Given the description of an element on the screen output the (x, y) to click on. 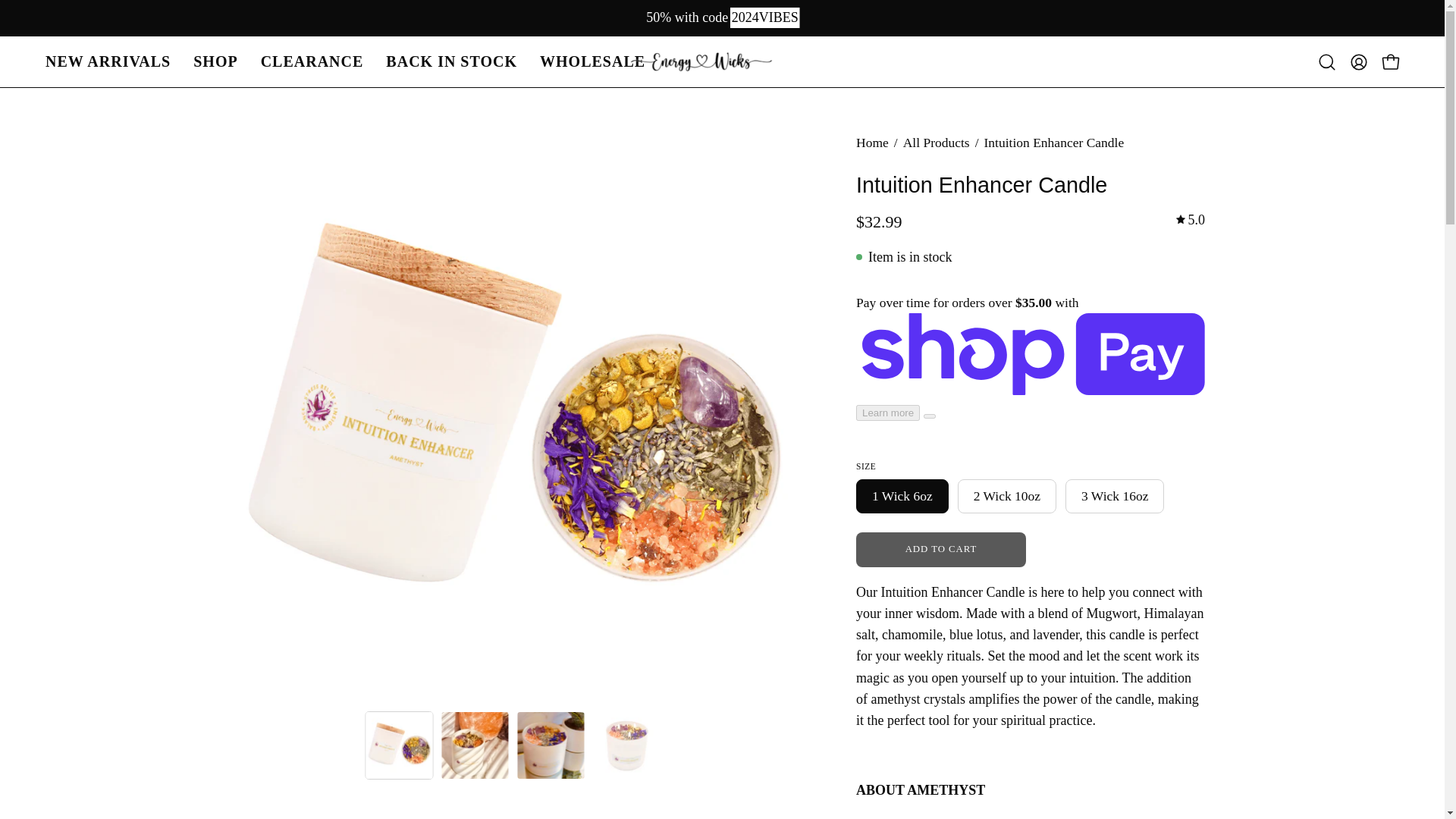
View Energy Wicks on Tiktok (91, 725)
View Energy Wicks on Facebook (126, 725)
Go back to Home page (872, 142)
Open search bar (1326, 60)
View Energy Wicks on Instagram (56, 725)
